Given the description of an element on the screen output the (x, y) to click on. 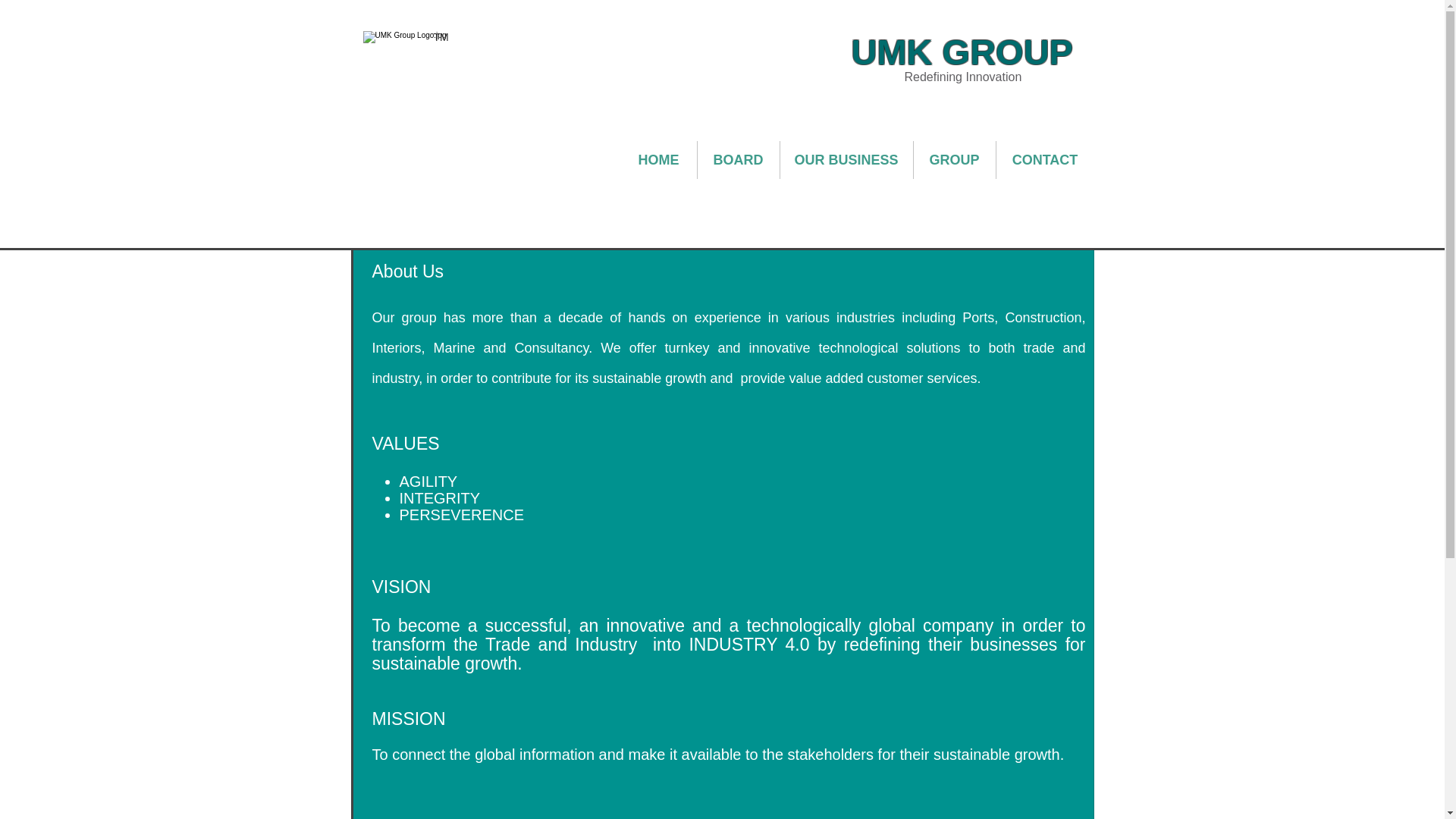
 TM (458, 9)
CONTACT (1044, 159)
OUR BUSINESS (845, 159)
HOME (657, 159)
GROUP (953, 159)
UMK GROUP (960, 51)
BOARD (737, 159)
